Given the description of an element on the screen output the (x, y) to click on. 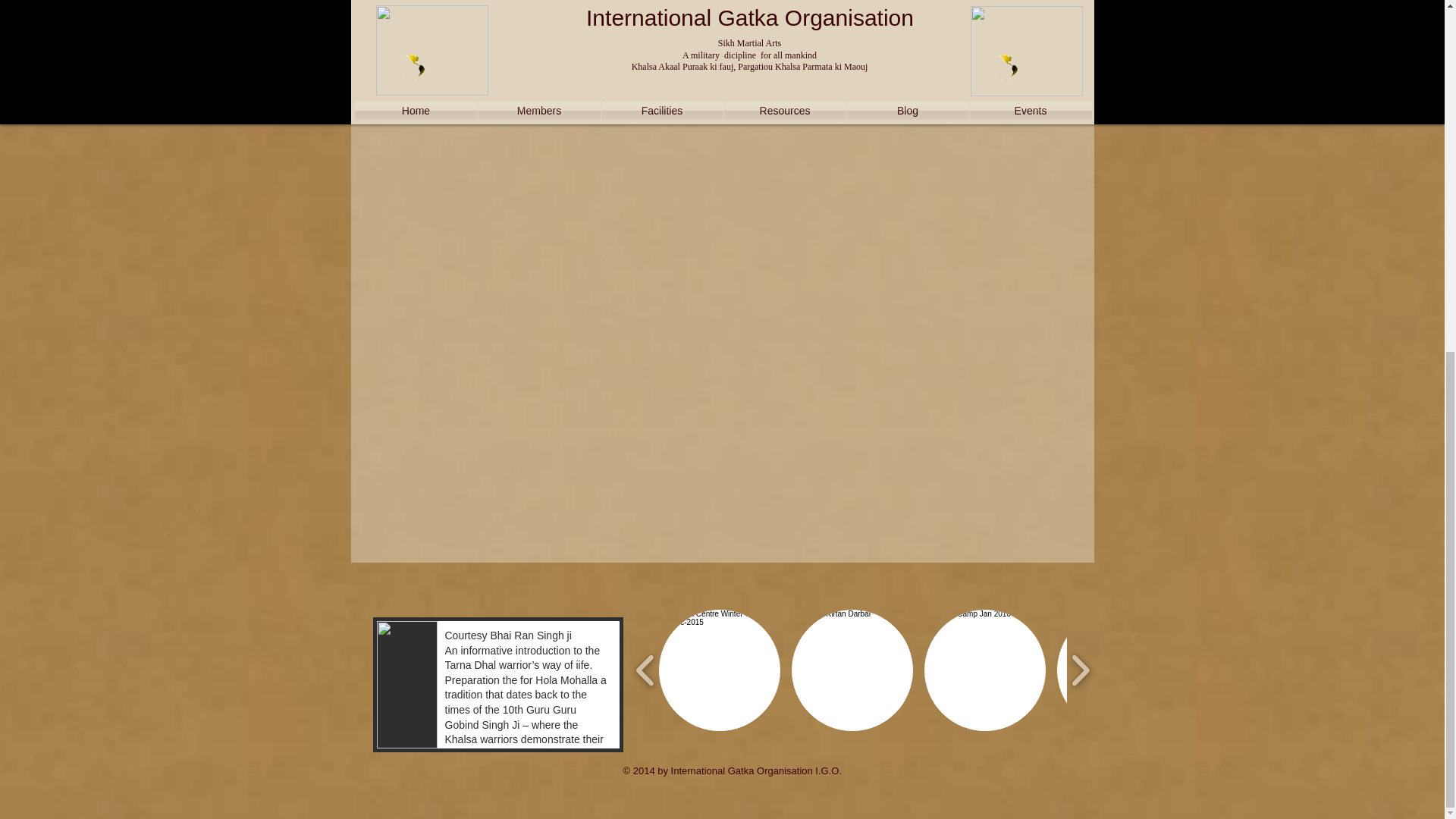
Back to previous page (439, 2)
